Given the description of an element on the screen output the (x, y) to click on. 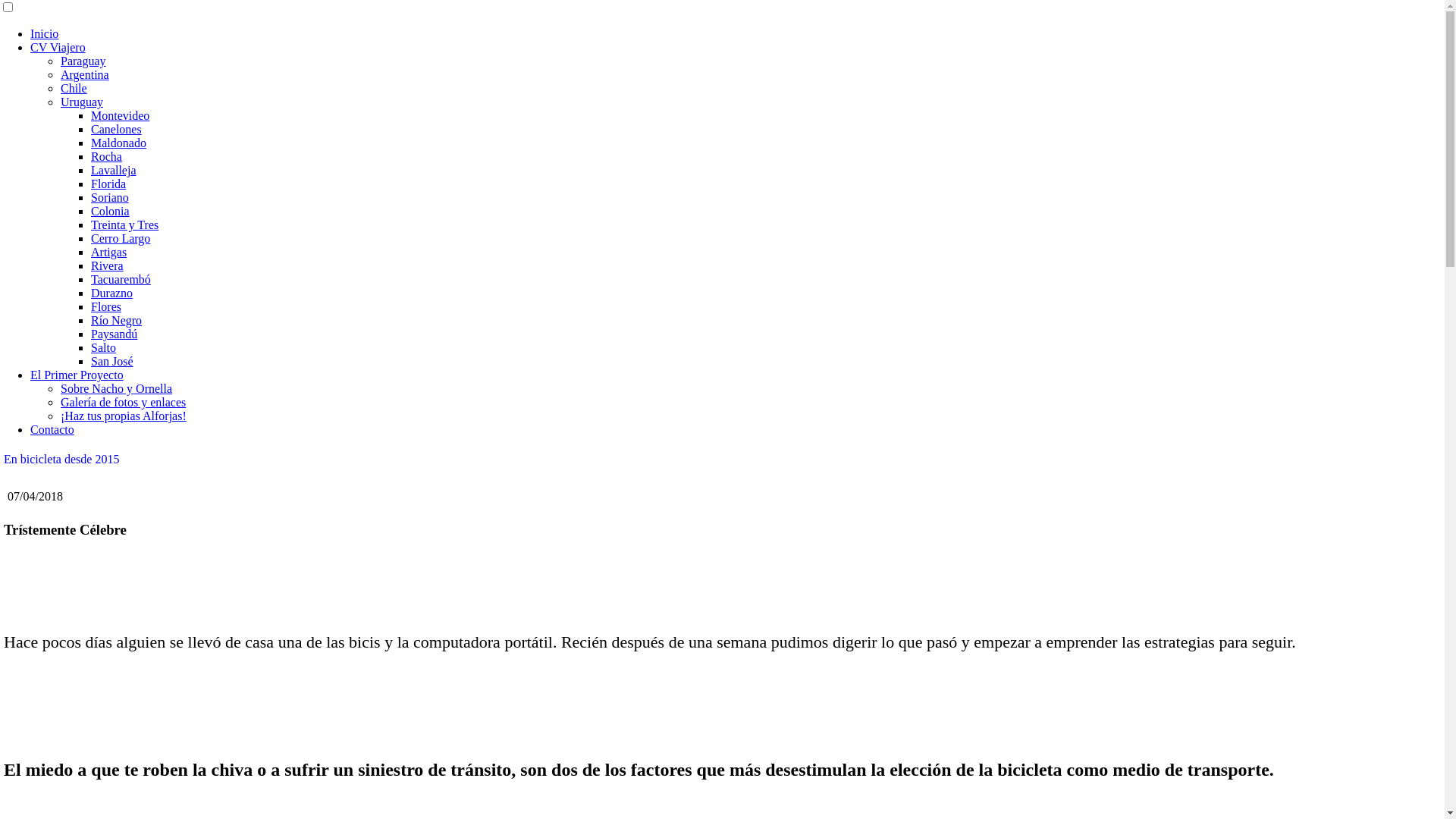
Sobre Nacho y Ornella Element type: text (116, 388)
Canelones Element type: text (116, 128)
Contacto Element type: text (52, 429)
Inicio Element type: text (44, 33)
Florida Element type: text (108, 183)
Flores Element type: text (106, 306)
Soriano Element type: text (109, 197)
Chile Element type: text (73, 87)
Paraguay Element type: text (83, 60)
Durazno Element type: text (111, 292)
En bicicleta desde 2015 Element type: text (61, 458)
Montevideo Element type: text (120, 115)
Argentina Element type: text (84, 74)
Artigas Element type: text (108, 251)
Rivera Element type: text (107, 265)
Maldonado Element type: text (118, 142)
El Primer Proyecto Element type: text (76, 374)
CV Viajero Element type: text (57, 46)
Rocha Element type: text (106, 156)
Salto Element type: text (103, 347)
Colonia Element type: text (110, 210)
Lavalleja Element type: text (113, 169)
Uruguay Element type: text (81, 101)
Treinta y Tres Element type: text (124, 224)
Cerro Largo Element type: text (120, 238)
